Given the description of an element on the screen output the (x, y) to click on. 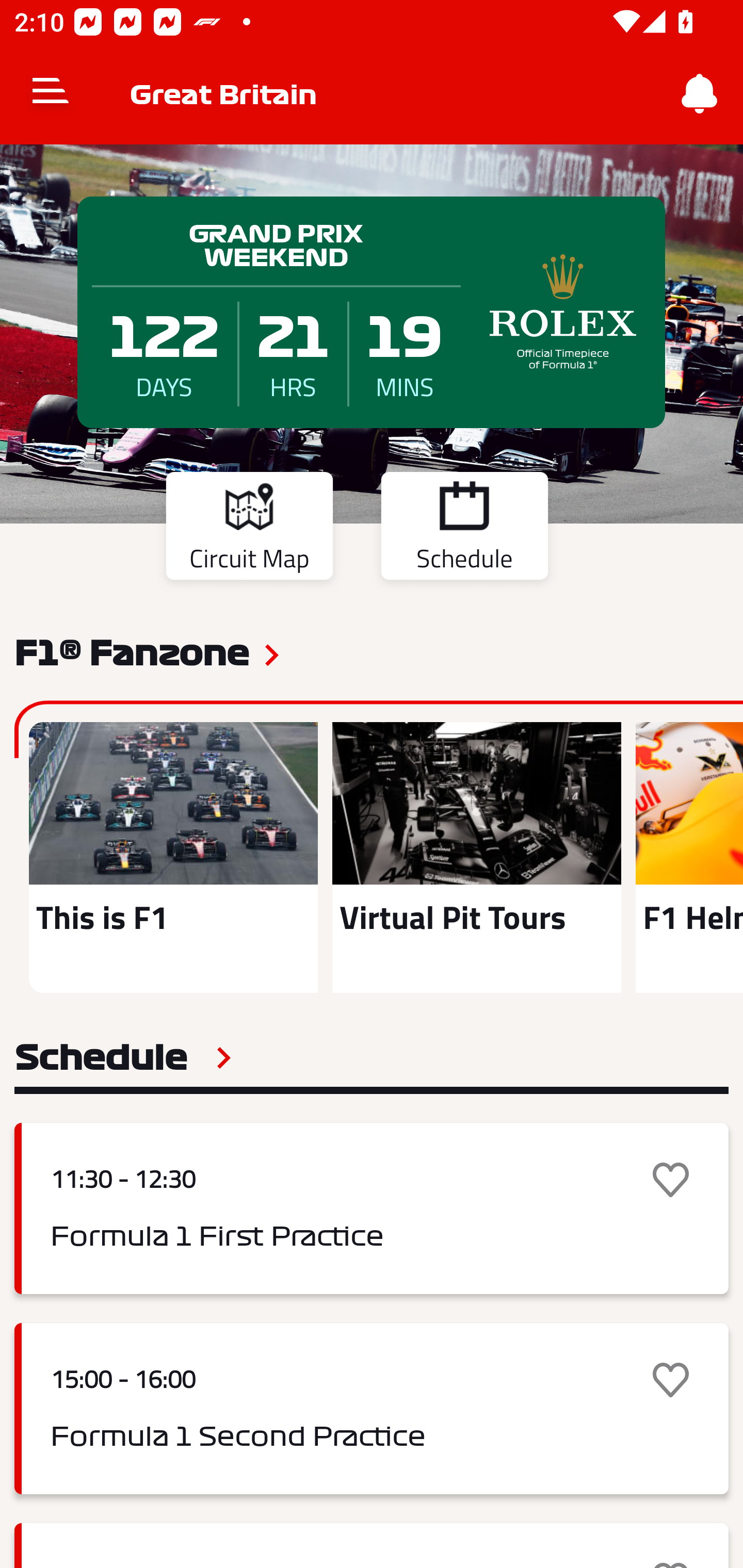
Navigate up (50, 93)
Notifications (699, 93)
Circuit Map (249, 528)
Schedule (464, 528)
F1® Fanzone (131, 651)
This is F1 (173, 857)
Virtual Pit Tours (476, 857)
Schedule (122, 1057)
11:30 - 12:30 Formula 1 First Practice (371, 1207)
15:00 - 16:00 Formula 1 Second Practice (371, 1408)
